Given the description of an element on the screen output the (x, y) to click on. 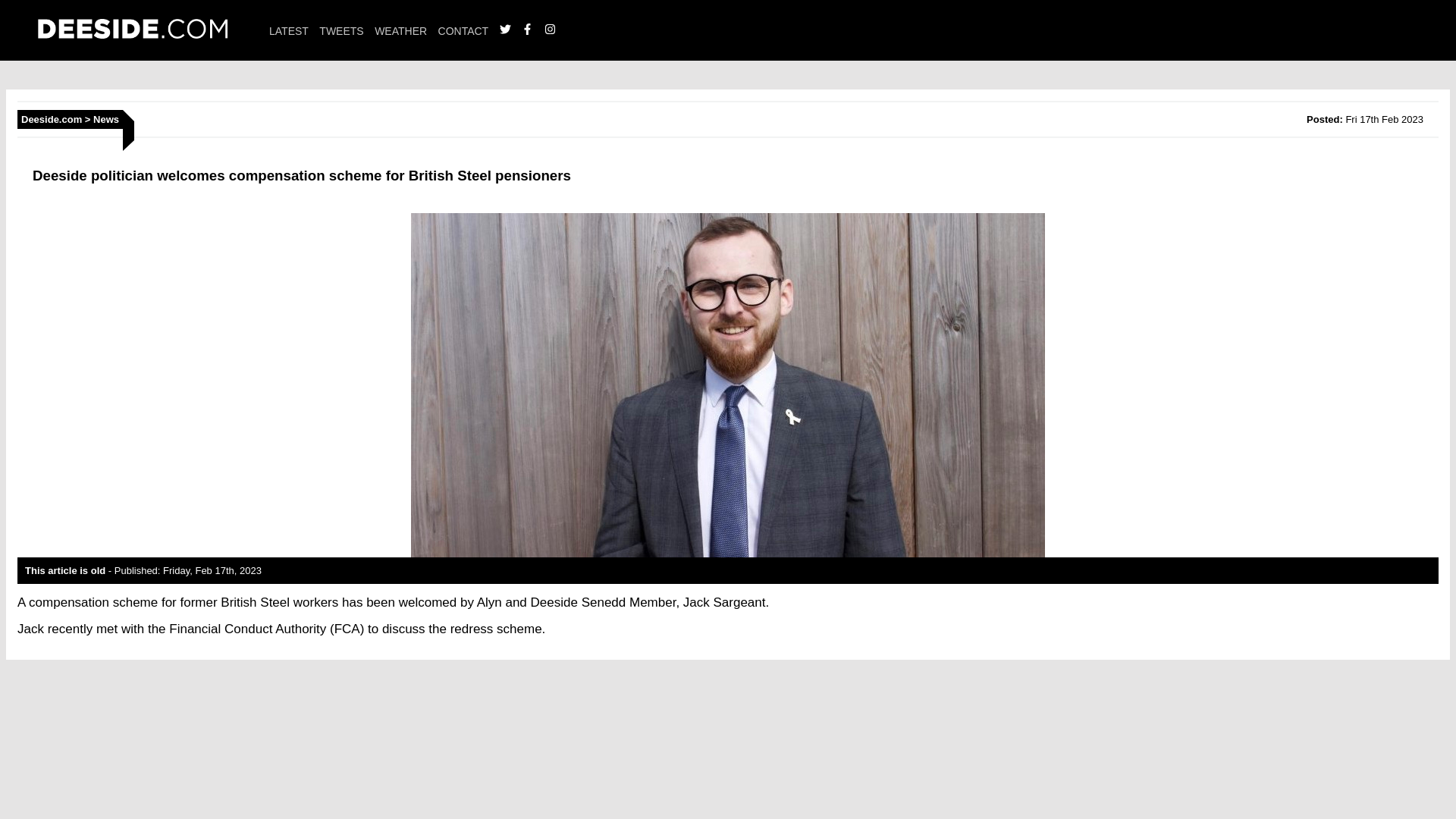
WEATHER (400, 30)
TWEETS (340, 30)
LATEST (288, 30)
CONTACT (463, 30)
